Given the description of an element on the screen output the (x, y) to click on. 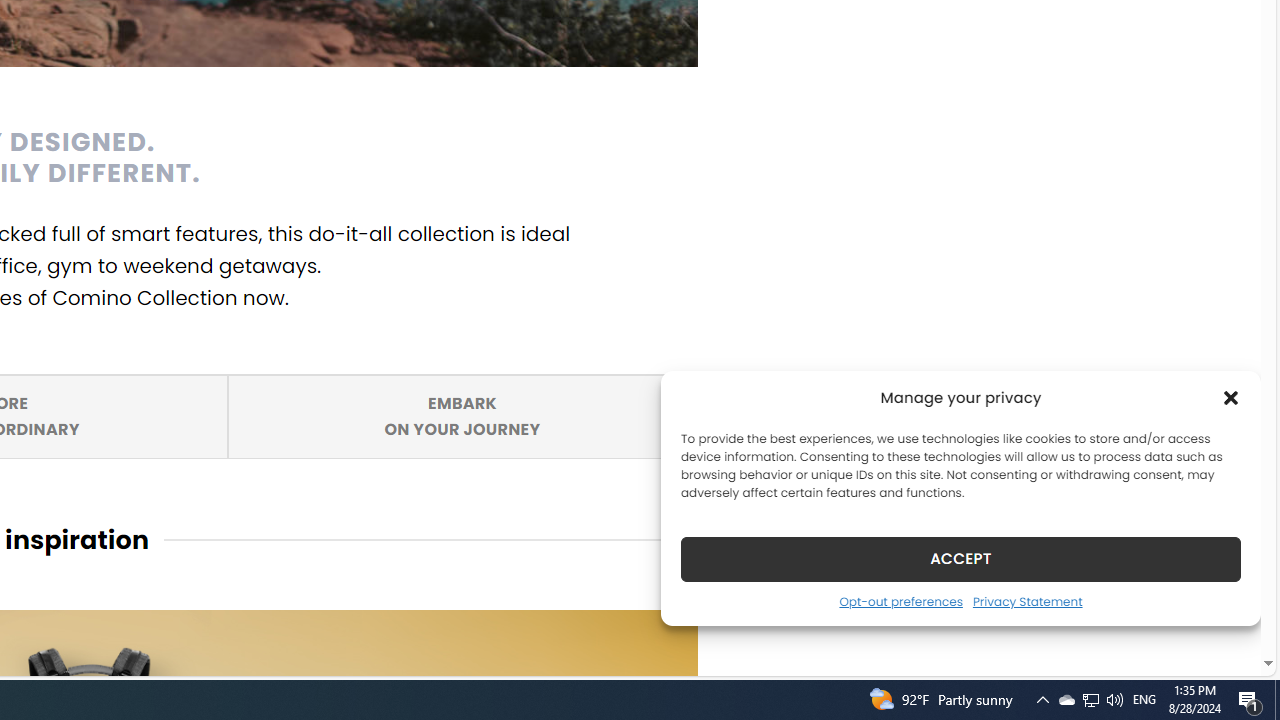
Class: cmplz-close (1231, 397)
EMBARK ON YOUR JOURNEY (461, 415)
ACCEPT (960, 558)
Privacy Statement (1026, 601)
Opt-out preferences (461, 415)
